Given the description of an element on the screen output the (x, y) to click on. 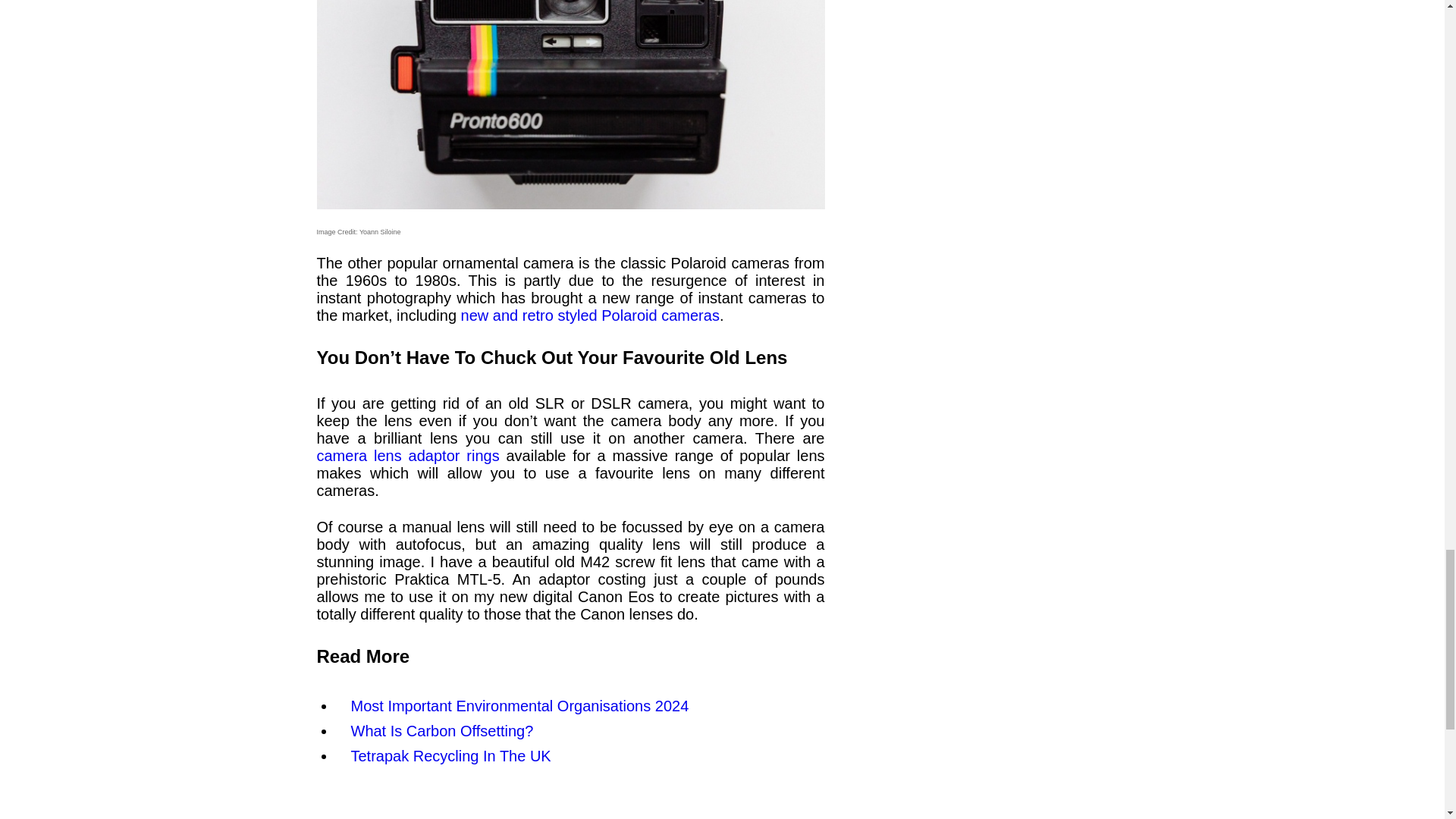
What Is Carbon Offsetting? (441, 730)
camera lens adaptor rings (408, 455)
new and retro styled Polaroid cameras (590, 315)
Most Important Environmental Organisations 2024 (519, 705)
Yoann Siloine (380, 231)
Tetrapak Recycling In The UK (450, 755)
